Given the description of an element on the screen output the (x, y) to click on. 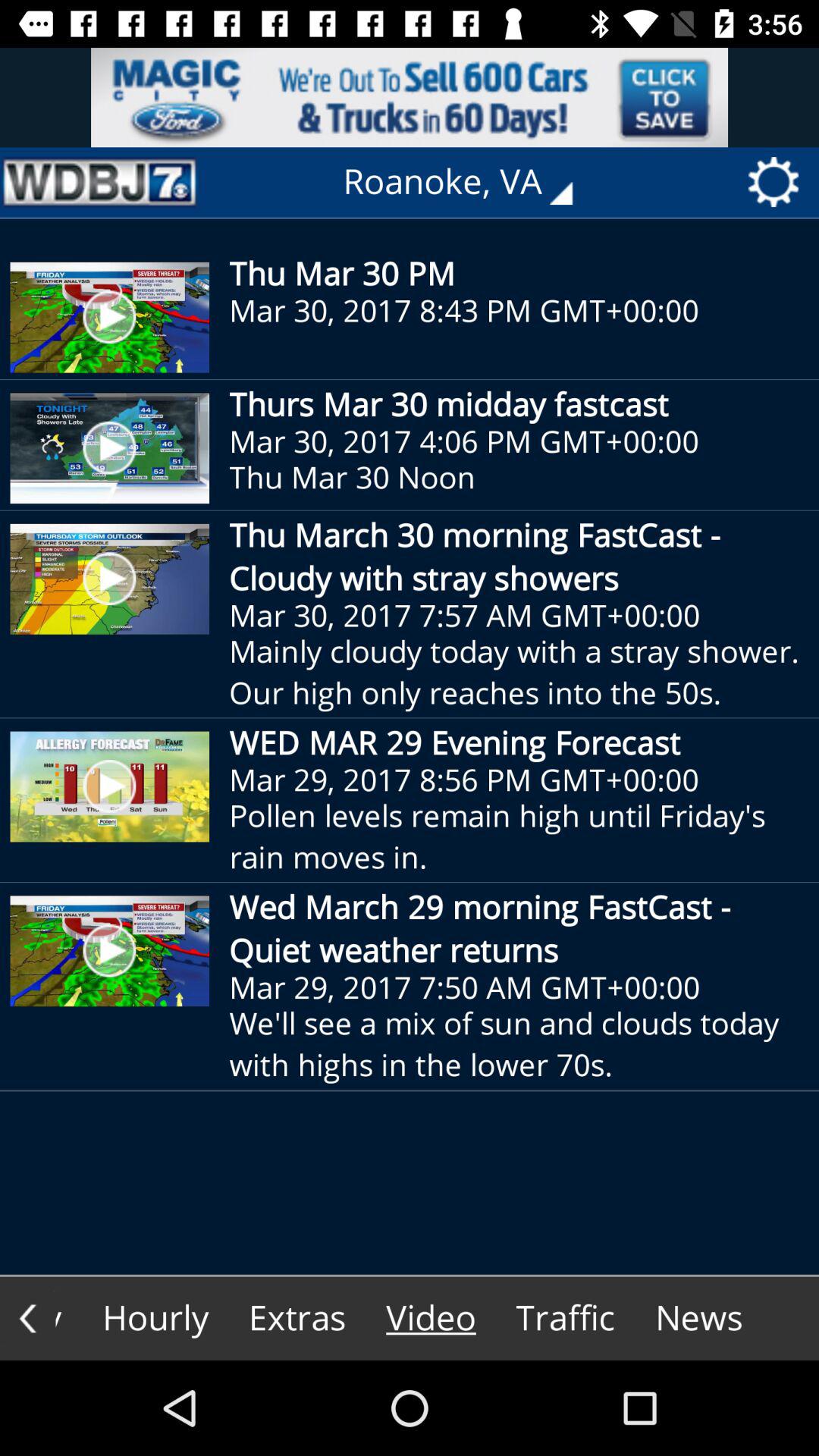
turn on icon to the left of roanoke, va (99, 182)
